Given the description of an element on the screen output the (x, y) to click on. 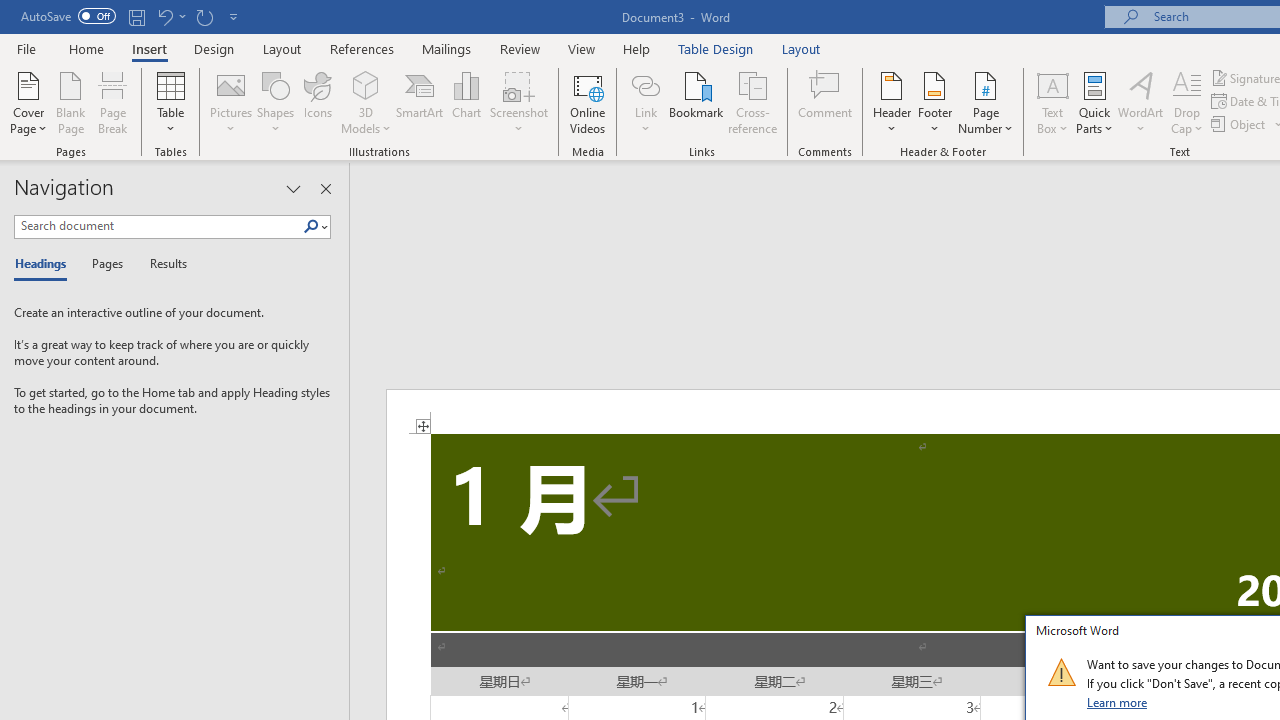
Object... (1240, 124)
Blank Page (70, 102)
Shapes (275, 102)
